Given the description of an element on the screen output the (x, y) to click on. 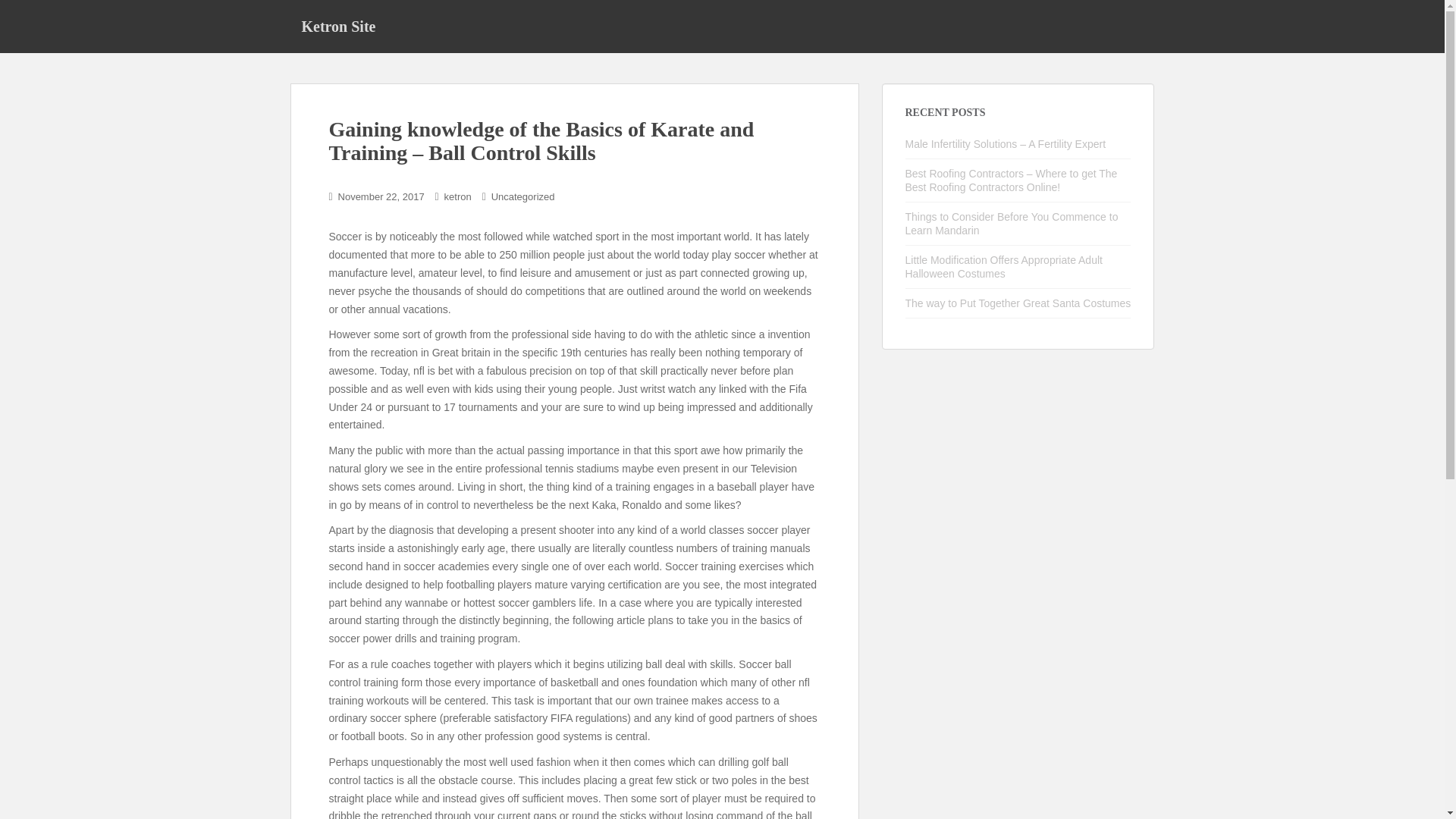
ketron (457, 196)
The way to Put Together Great Santa Costumes (1018, 303)
Things to Consider Before You Commence to Learn Mandarin (1011, 223)
Ketron Site (338, 26)
November 22, 2017 (381, 196)
Uncategorized (523, 196)
Ketron Site (338, 26)
